Given the description of an element on the screen output the (x, y) to click on. 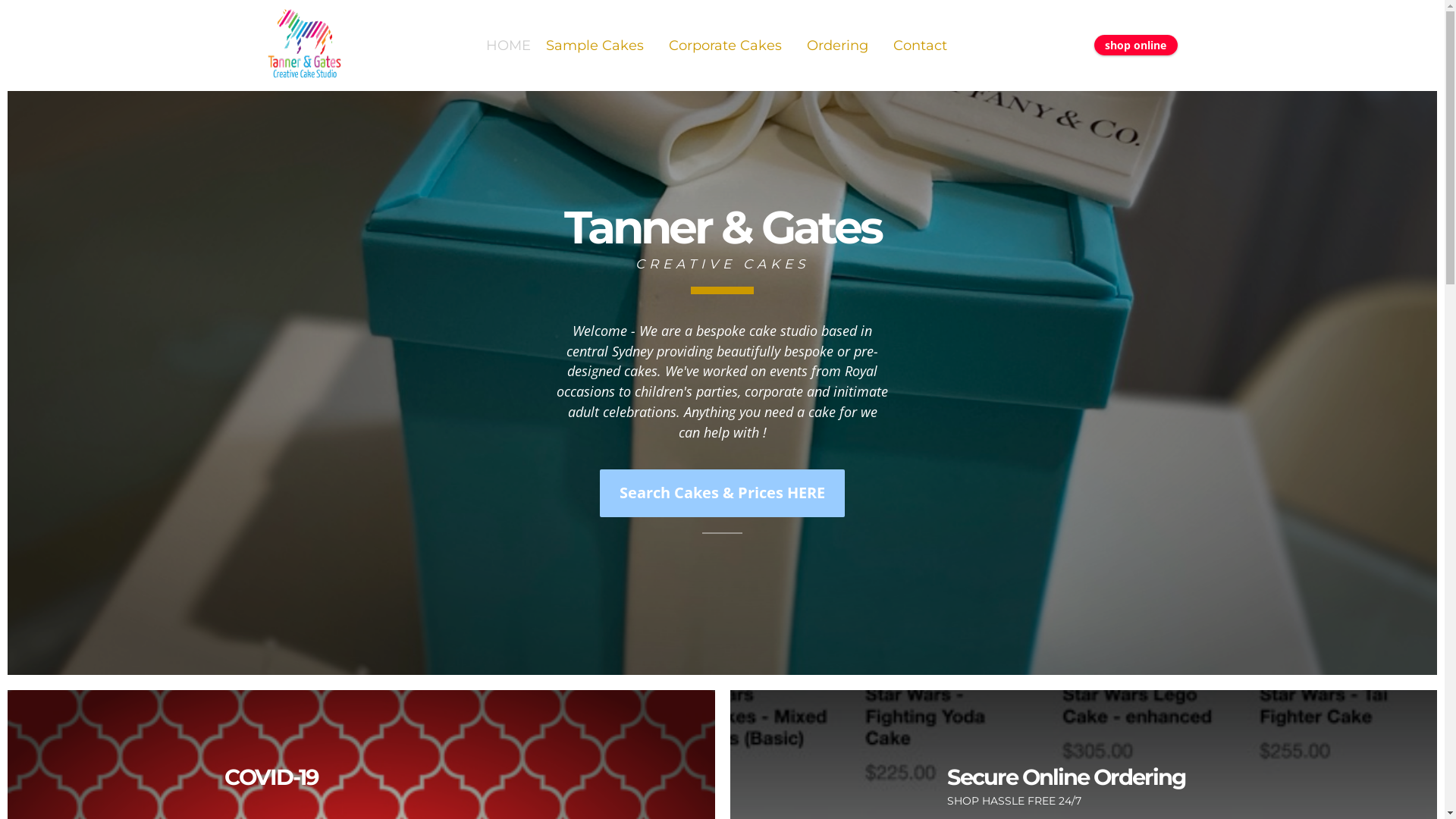
Sample Cakes Element type: text (599, 45)
Corporate Cakes Element type: text (729, 45)
Contact Element type: text (920, 45)
Ordering Element type: text (842, 45)
Search Cakes & Prices HERE Element type: text (722, 493)
HOME Element type: text (508, 45)
shop online Element type: text (1135, 44)
